Given the description of an element on the screen output the (x, y) to click on. 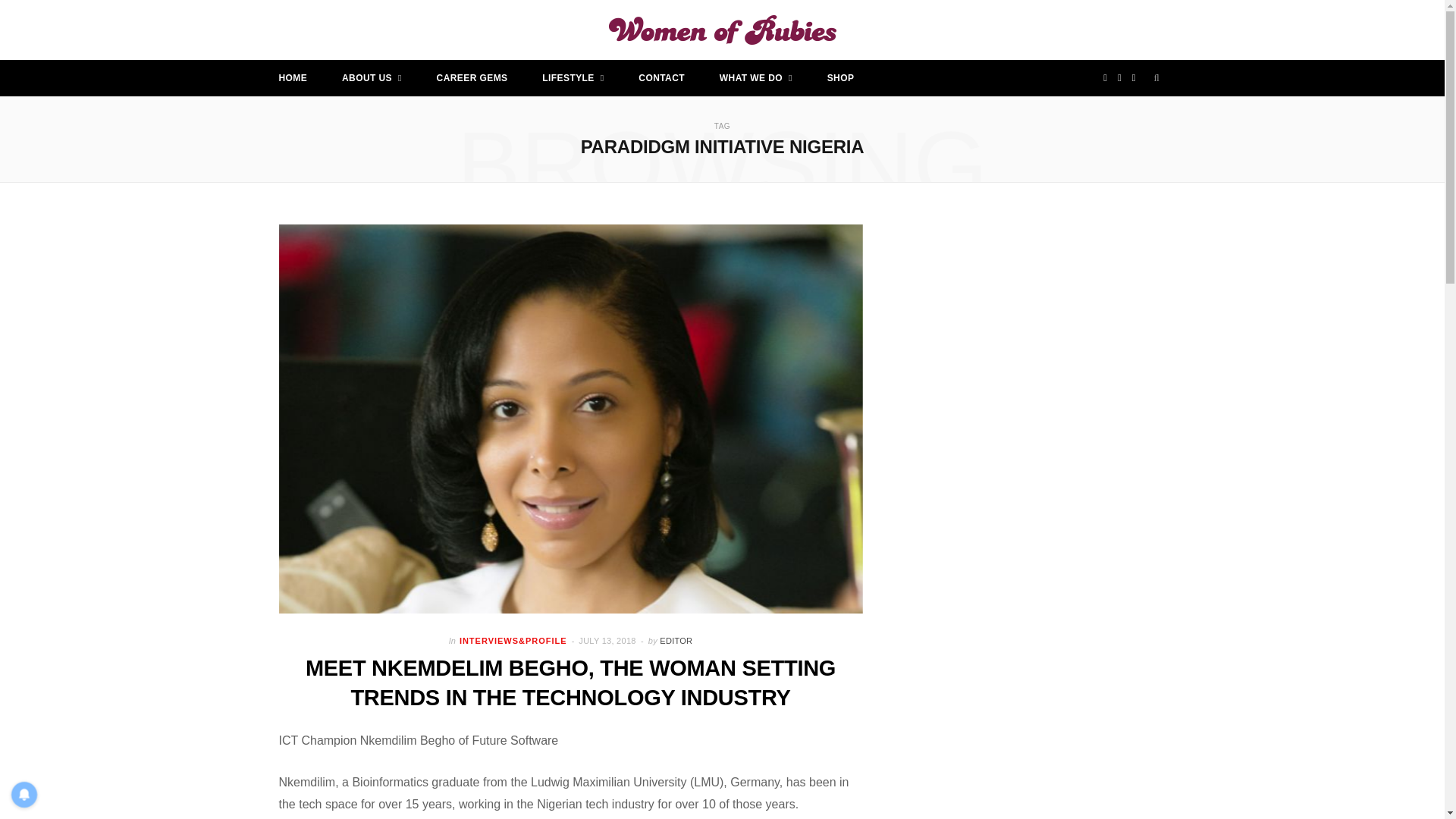
EDITOR (676, 640)
CAREER GEMS (472, 77)
JULY 13, 2018 (608, 640)
LIFESTYLE (572, 77)
CONTACT (661, 77)
WHAT WE DO (755, 77)
Women of Rubies (721, 30)
HOME (292, 77)
 Webpushr (30, 765)
SHOP (840, 77)
ABOUT US (371, 77)
Advertisement (1059, 697)
Posts by Editor (676, 640)
